Given the description of an element on the screen output the (x, y) to click on. 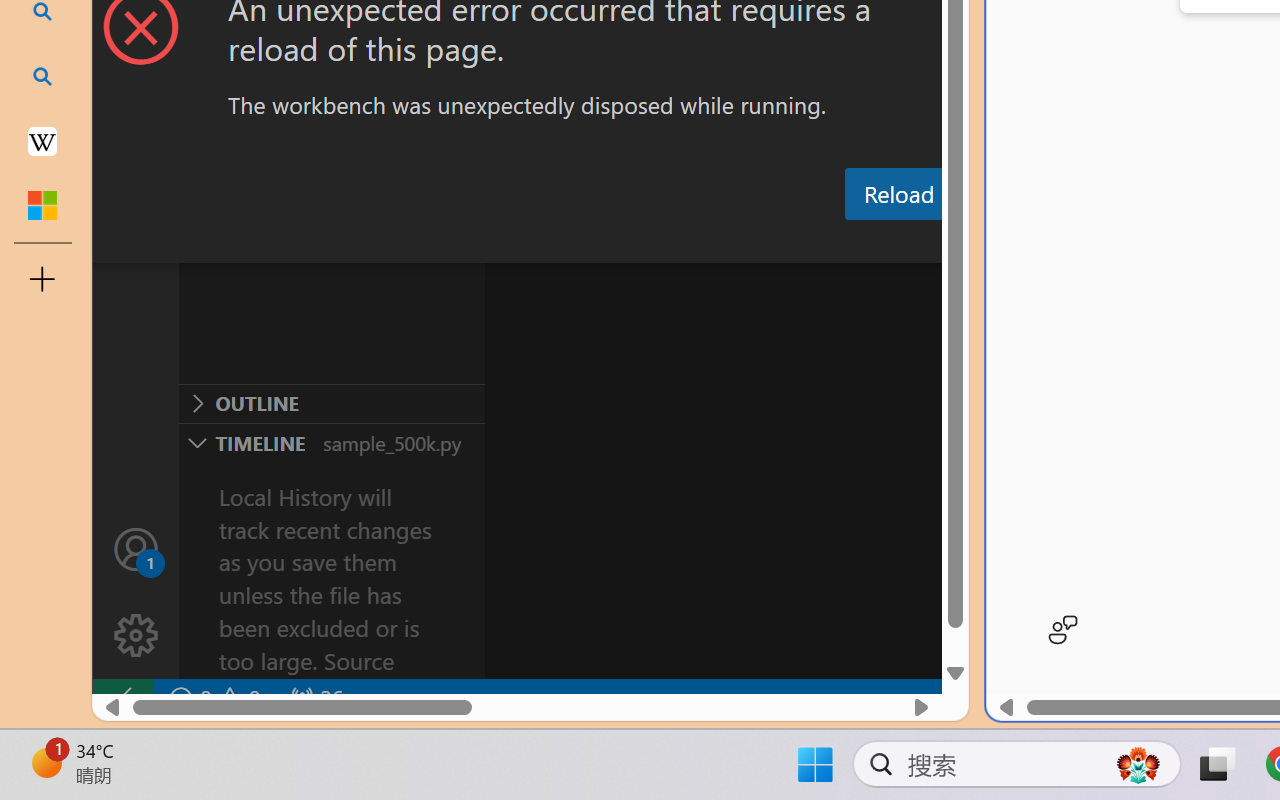
Output (Ctrl+Shift+U) (696, 243)
remote (122, 698)
Terminal (Ctrl+`) (1021, 243)
